Given the description of an element on the screen output the (x, y) to click on. 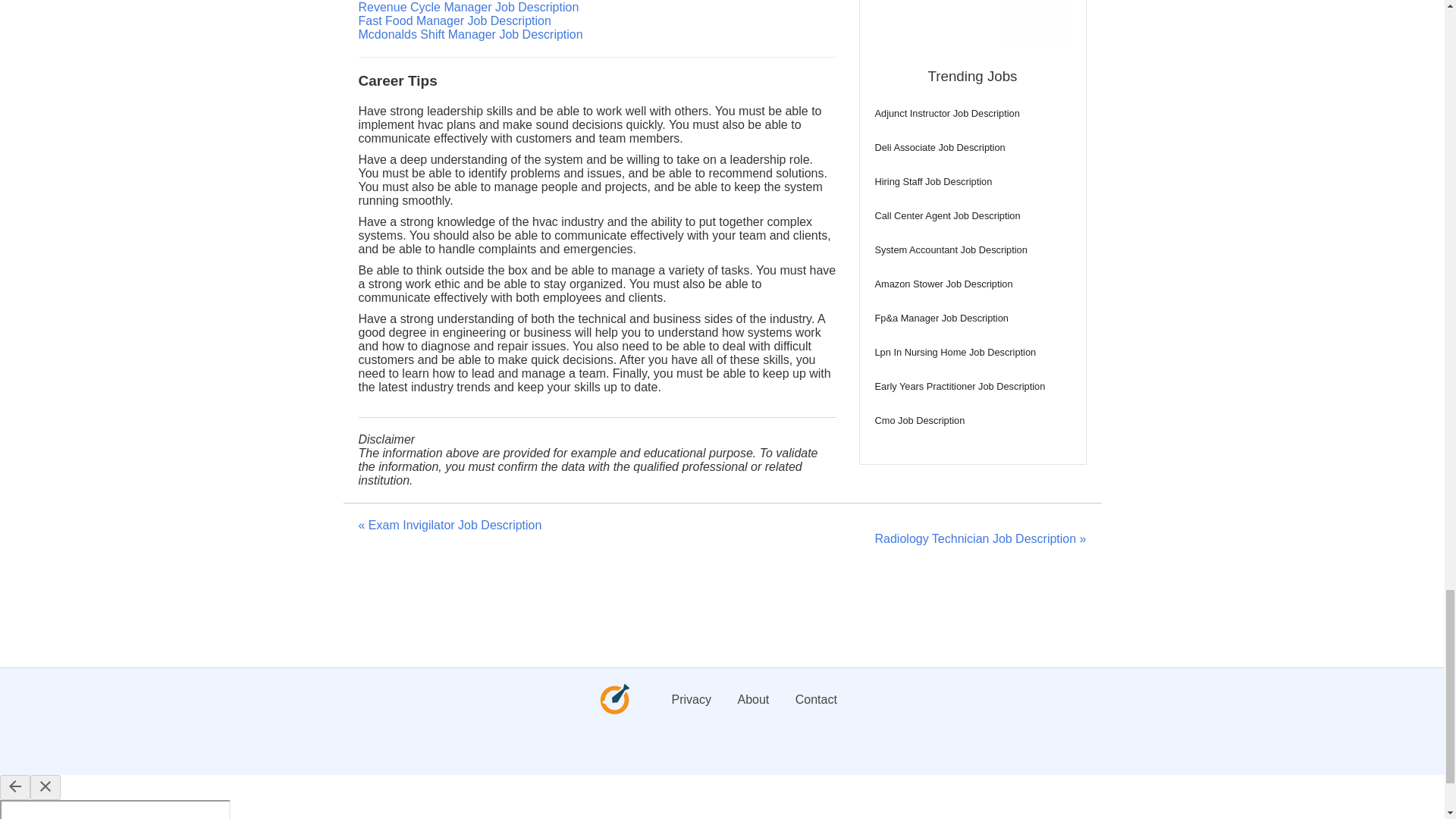
Revenue Cycle Manager Job Description (468, 6)
Home Page (614, 711)
Contact (816, 698)
Privacy (691, 698)
Fast Food Manager Job Description (454, 20)
About (752, 698)
Mcdonalds Shift Manager Job Description (470, 33)
